Given the description of an element on the screen output the (x, y) to click on. 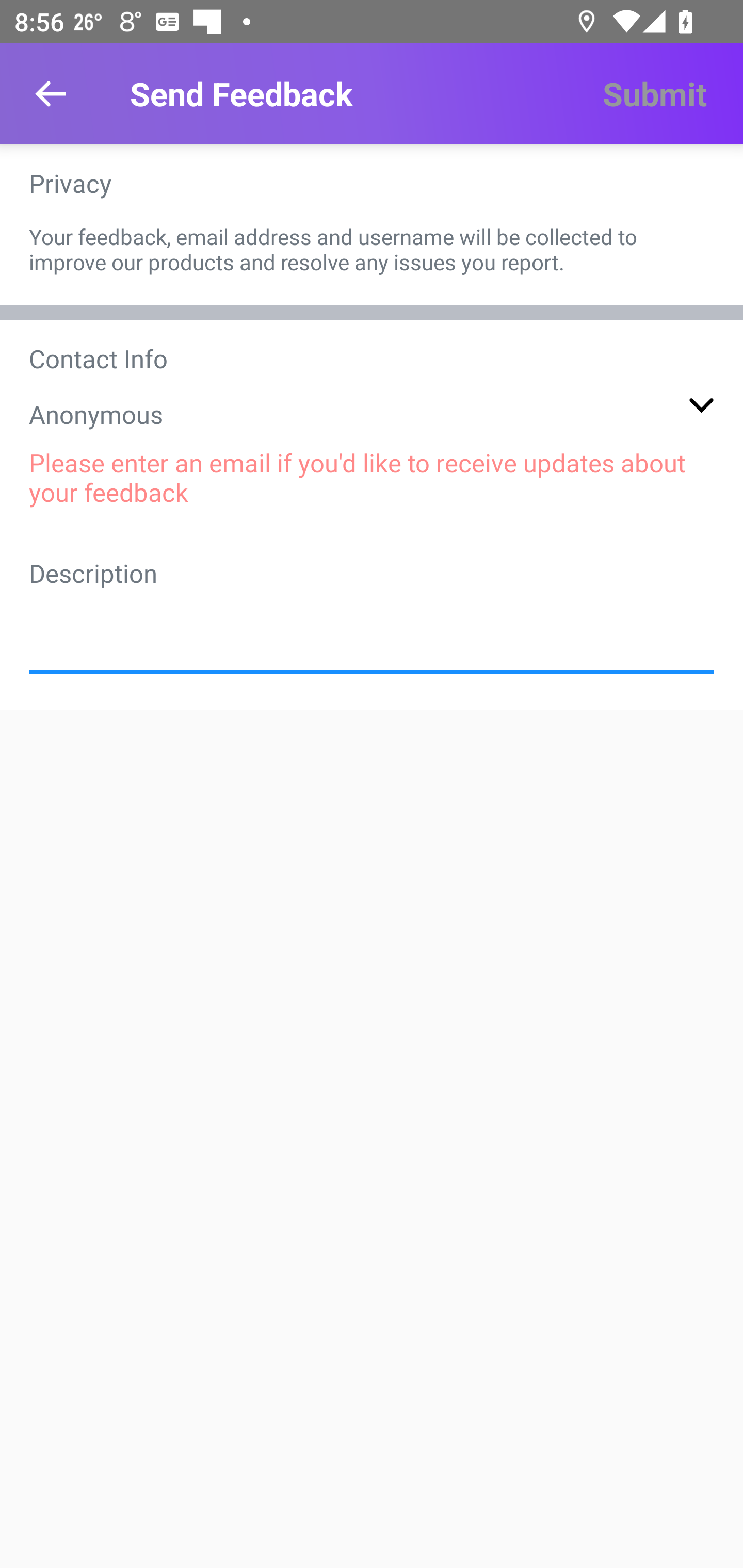
Navigate up (50, 93)
Submit (654, 94)
Anonymous (371, 413)
feedback (371, 626)
